Given the description of an element on the screen output the (x, y) to click on. 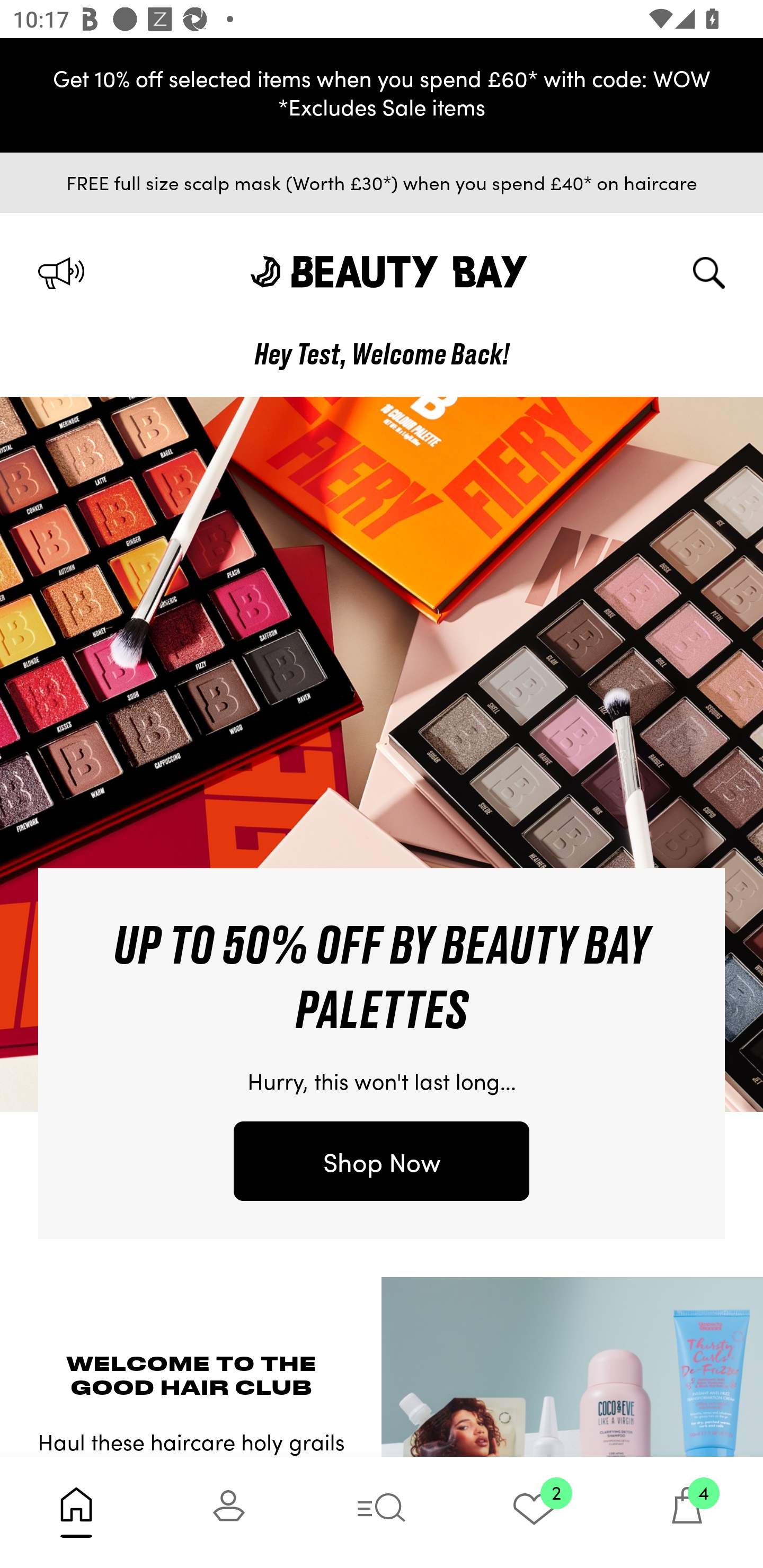
2 (533, 1512)
4 (686, 1512)
